Given the description of an element on the screen output the (x, y) to click on. 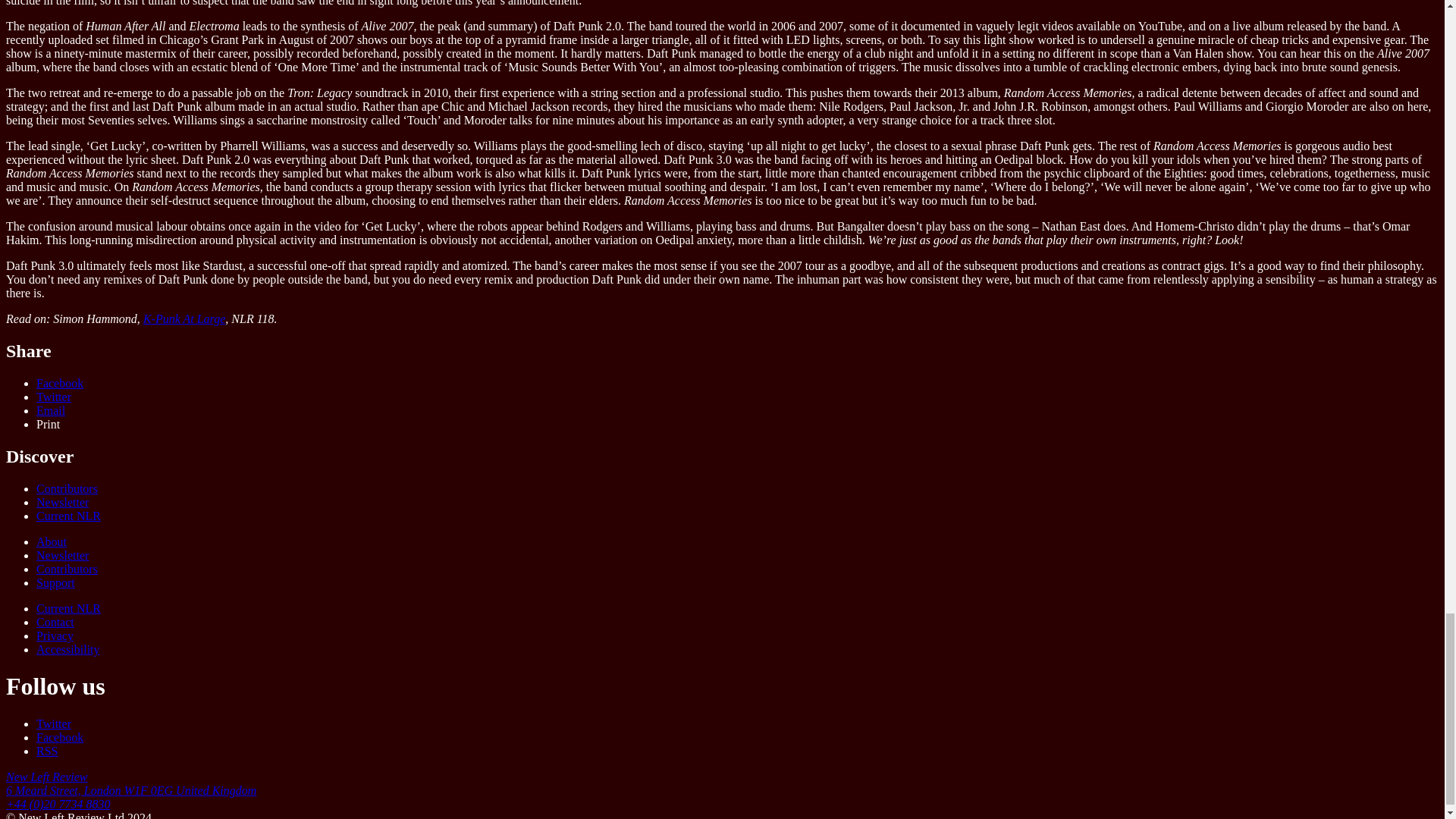
Facebook (59, 382)
K-Punk At Large (183, 318)
Twitter (53, 723)
Contributors (66, 568)
Privacy (55, 635)
Newsletter (62, 502)
Newsletter (62, 554)
RSS (47, 750)
Support (55, 582)
Twitter (53, 396)
Print (47, 423)
Facebook (59, 737)
Contributors (66, 488)
Email (50, 410)
Accessibility (68, 649)
